Given the description of an element on the screen output the (x, y) to click on. 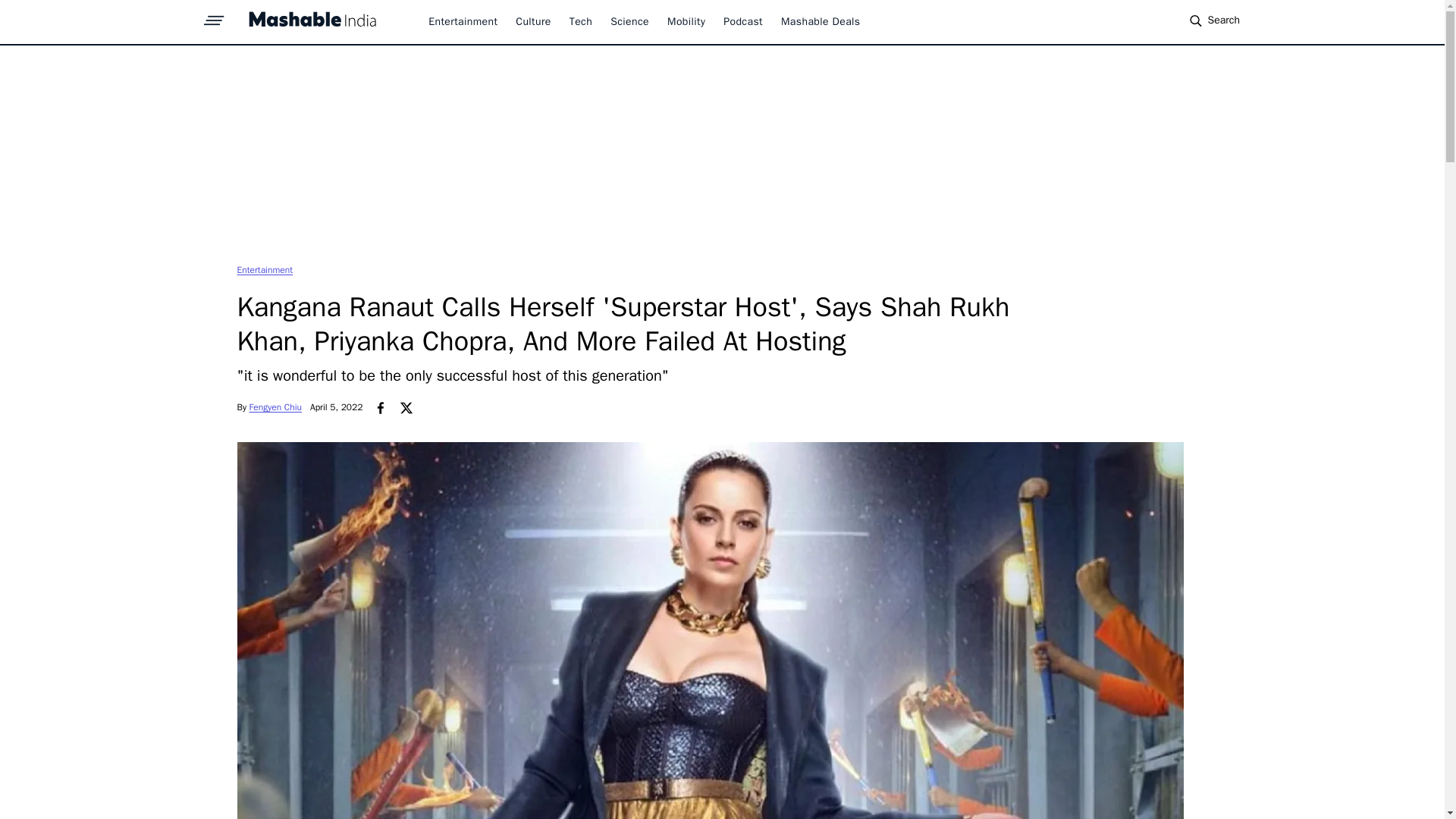
Culture (532, 21)
Entertainment (263, 269)
Fengyen Chiu (275, 407)
sprite-hamburger (213, 16)
Science (629, 21)
Entertainment (462, 21)
Entertainment (263, 269)
Podcast (742, 21)
Tech (580, 21)
Mobility (685, 21)
Mashable Deals (820, 21)
